Given the description of an element on the screen output the (x, y) to click on. 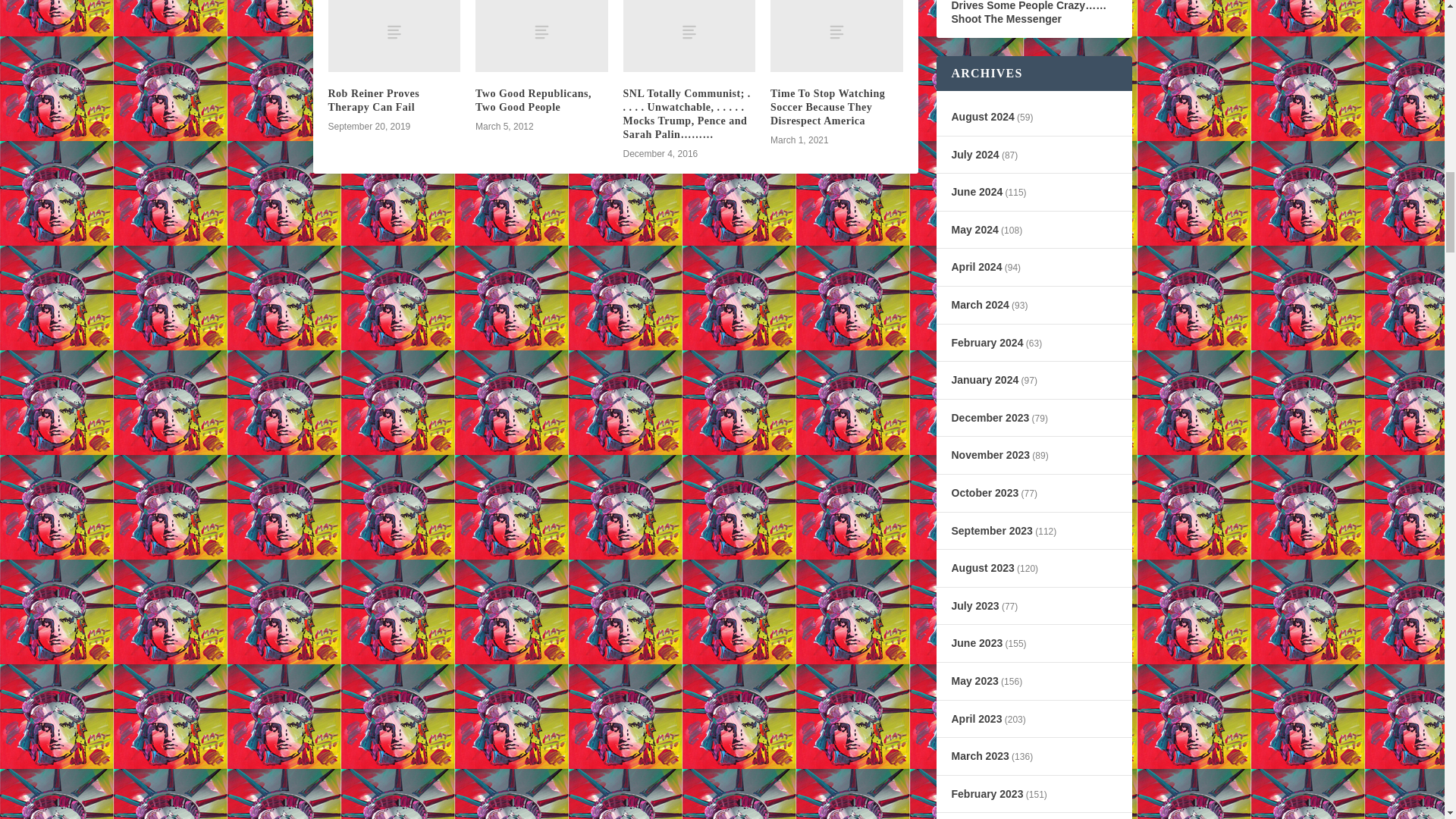
Rob Reiner Proves Therapy Can Fail (373, 100)
Two Good Republicans, Two Good People (533, 100)
Time To Stop Watching Soccer Because They Disrespect America (827, 106)
